Given the description of an element on the screen output the (x, y) to click on. 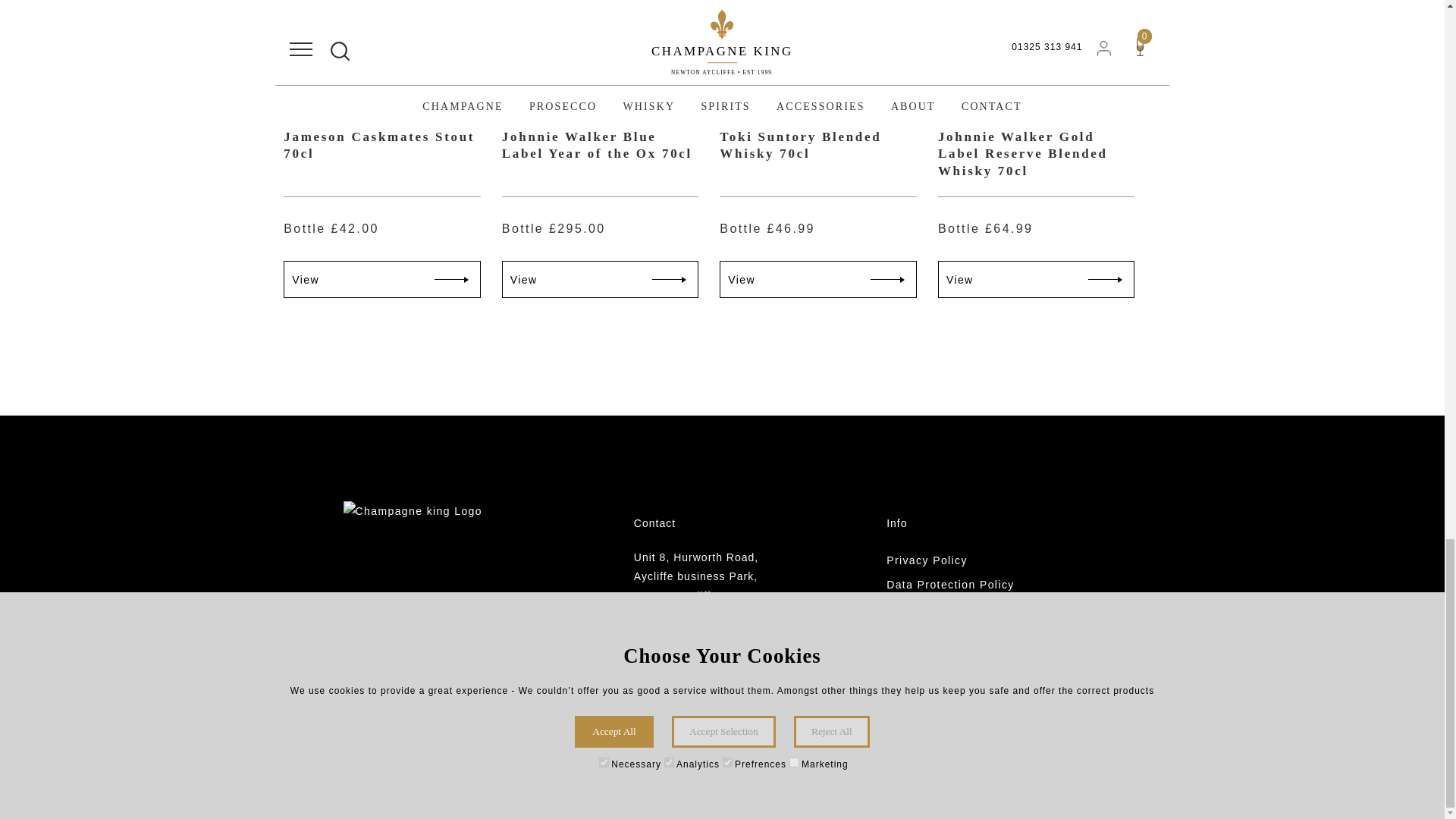
Contact Us (974, 706)
Sitemap (974, 730)
Track Order (974, 682)
Cookies Policy (974, 609)
Delivery (974, 658)
Terms and Conditions (974, 633)
Privacy Policy (974, 560)
Data Protection Policy (974, 585)
